Given the description of an element on the screen output the (x, y) to click on. 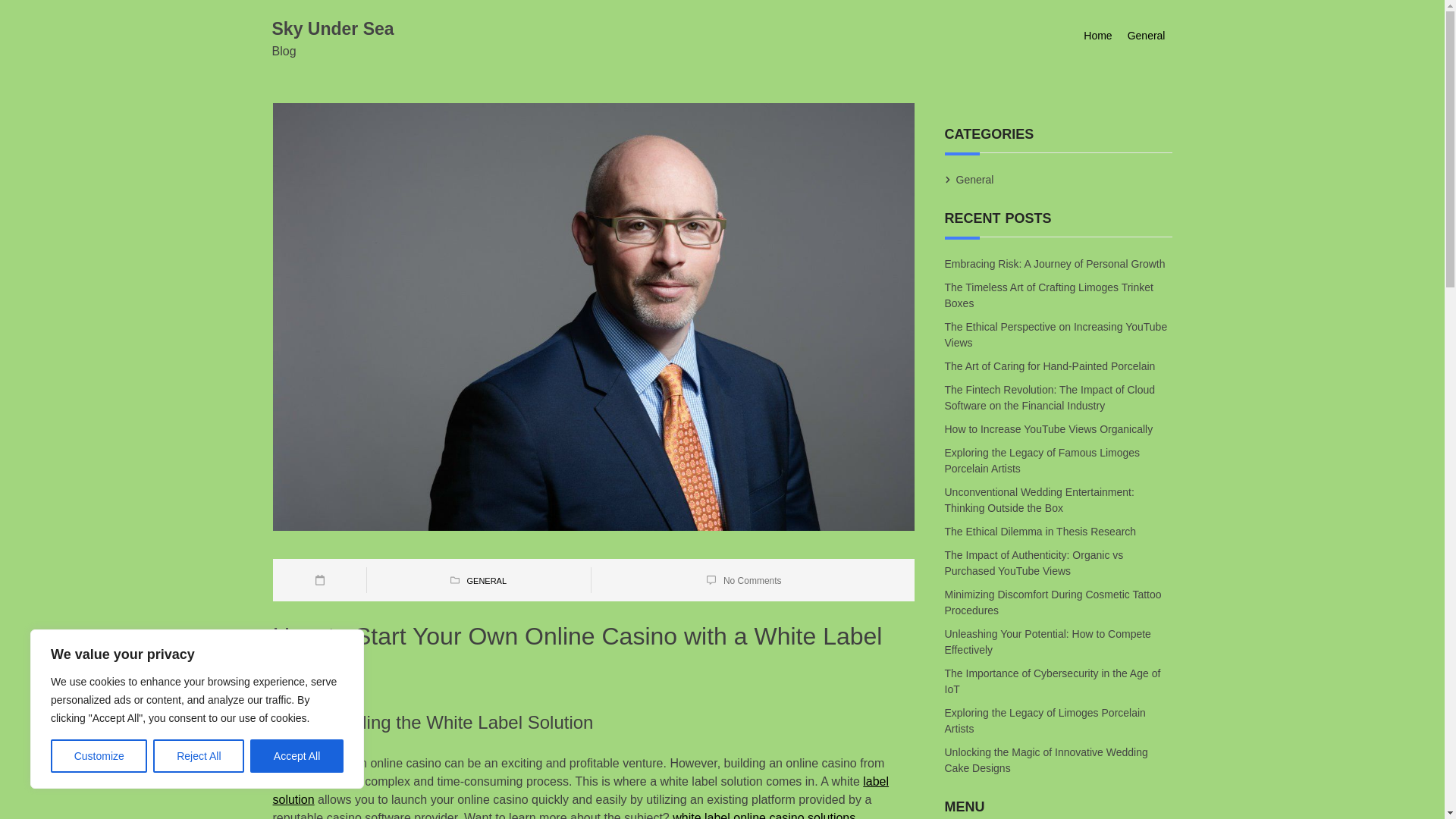
label solution (581, 789)
No Comments (752, 579)
How to Increase YouTube Views Organically (1049, 429)
Sky Under Sea (331, 28)
Embracing Risk: A Journey of Personal Growth (1055, 264)
The Timeless Art of Crafting Limoges Trinket Boxes (1048, 295)
Home (1097, 35)
Reject All (198, 756)
General (974, 179)
The Art of Caring for Hand-Painted Porcelain (1050, 365)
The Ethical Perspective on Increasing YouTube Views (1055, 334)
Exploring the Legacy of Famous Limoges Porcelain Artists (1042, 460)
General (1146, 35)
GENERAL (485, 580)
